Given the description of an element on the screen output the (x, y) to click on. 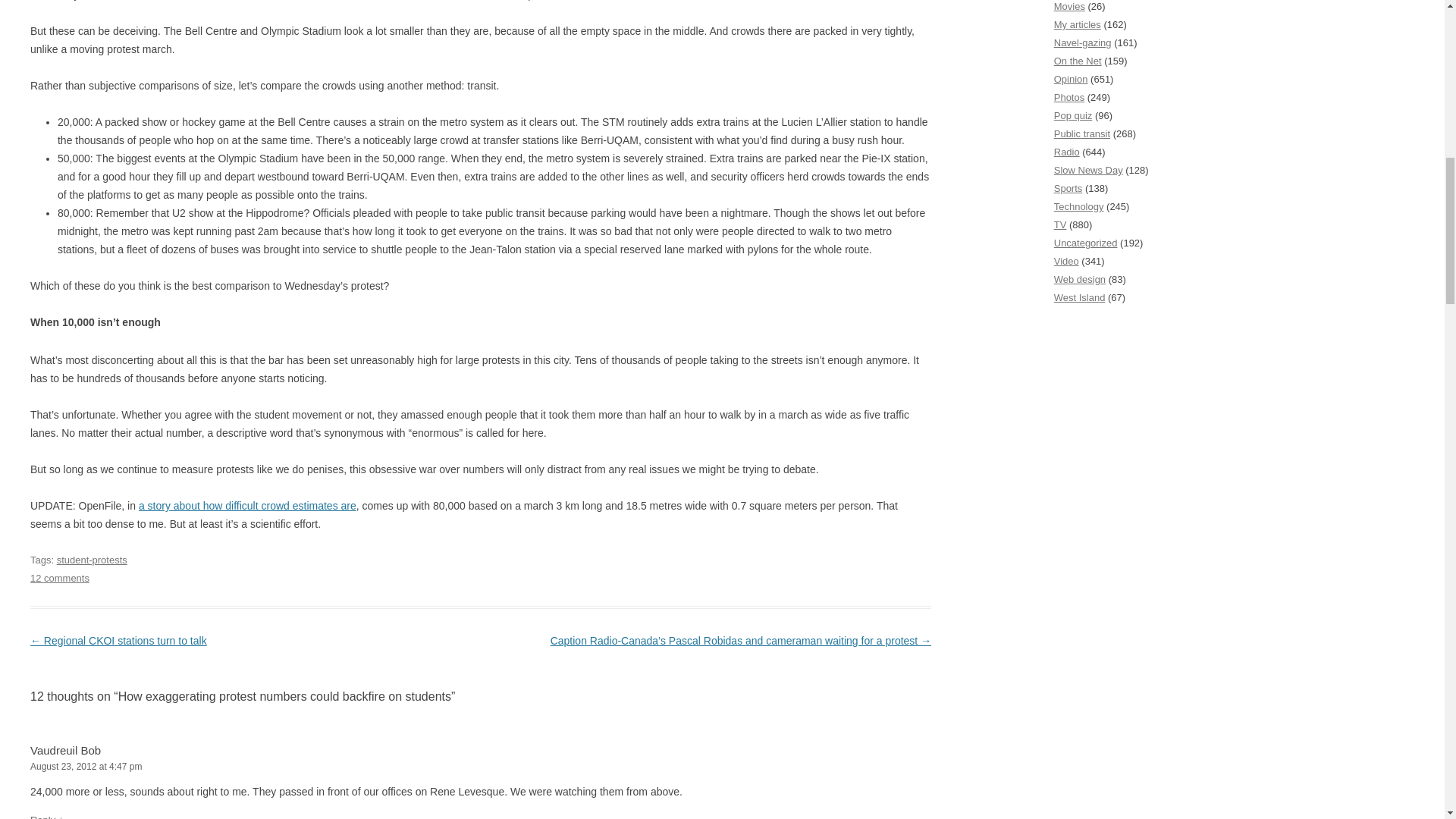
a story about how difficult crowd estimates are (247, 505)
12 comments (59, 577)
Reply (42, 816)
student-protests (92, 559)
August 23, 2012 at 4:47 pm (480, 766)
